Given the description of an element on the screen output the (x, y) to click on. 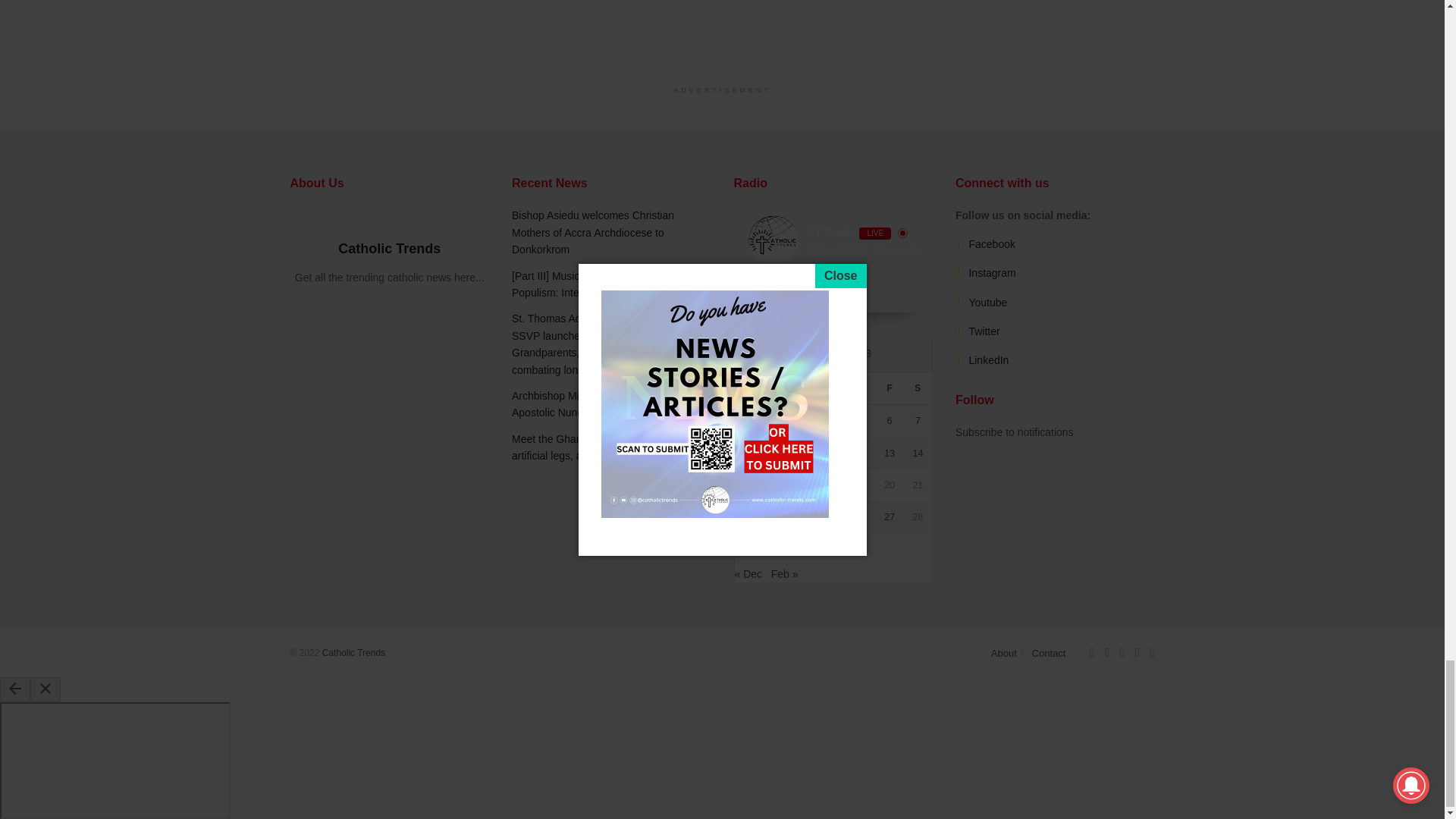
Play (812, 292)
